Given the description of an element on the screen output the (x, y) to click on. 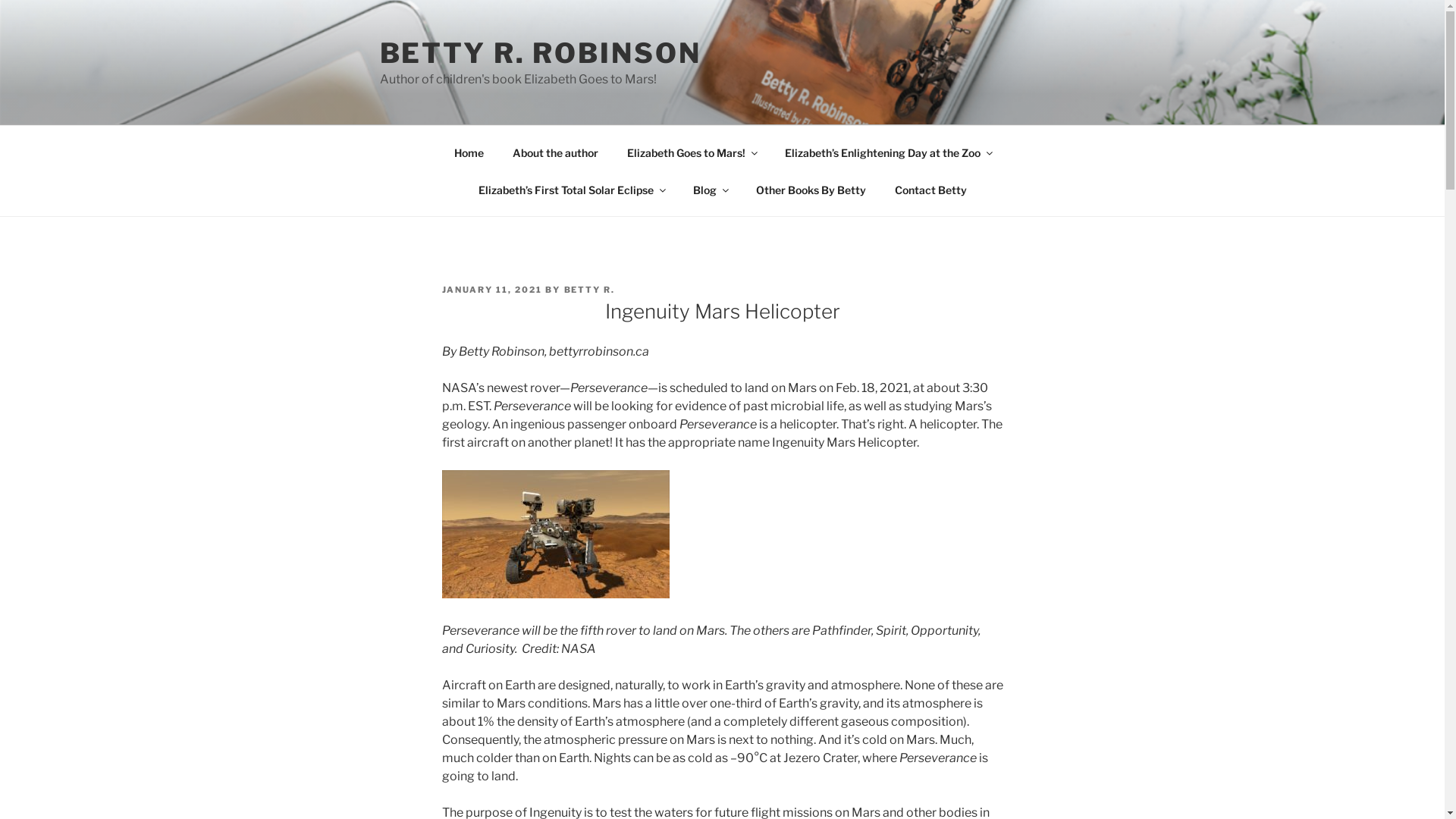
About the author Element type: text (554, 151)
JANUARY 11, 2021 Element type: text (491, 289)
Blog Element type: text (709, 189)
BETTY R. Element type: text (589, 289)
Home Element type: text (468, 151)
Elizabeth Goes to Mars! Element type: text (690, 151)
Other Books By Betty Element type: text (810, 189)
BETTY R. ROBINSON Element type: text (539, 52)
Contact Betty Element type: text (930, 189)
